Given the description of an element on the screen output the (x, y) to click on. 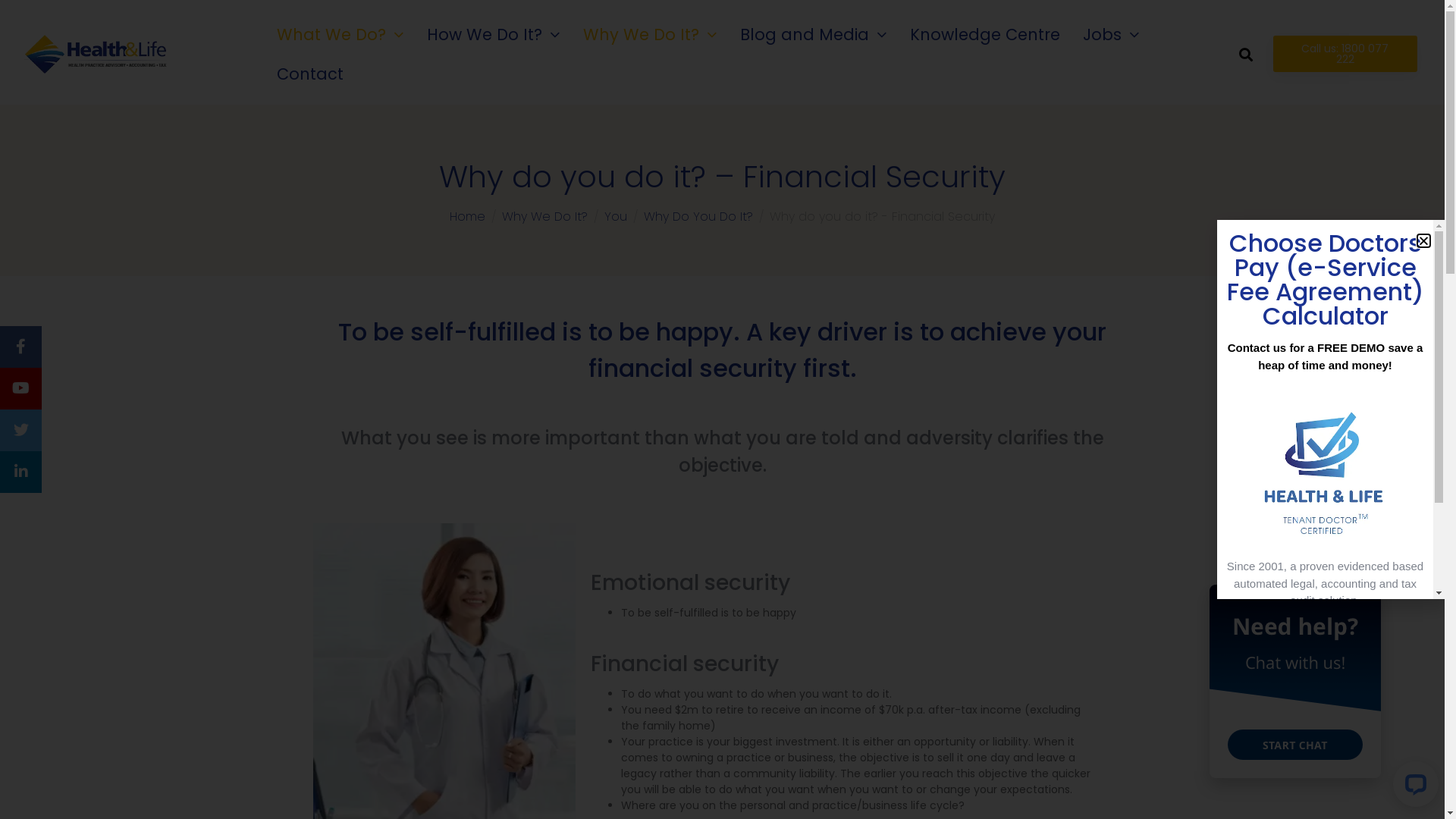
Jobs Element type: text (1111, 34)
Call us: 1800 077 222 Element type: text (1345, 53)
Why Do You Do It? Element type: text (698, 216)
Why We Do It? Element type: text (544, 216)
Home Element type: text (467, 216)
Blog and Media Element type: text (813, 34)
Knowledge Centre Element type: text (984, 34)
You Element type: text (615, 216)
Contact Element type: text (310, 74)
What We Do? Element type: text (340, 34)
How We Do It? Element type: text (493, 34)
Choose Doctors Pay (e-Service Fee Agreement) Calculator Element type: text (1325, 278)
Why We Do It? Element type: text (649, 34)
